Given the description of an element on the screen output the (x, y) to click on. 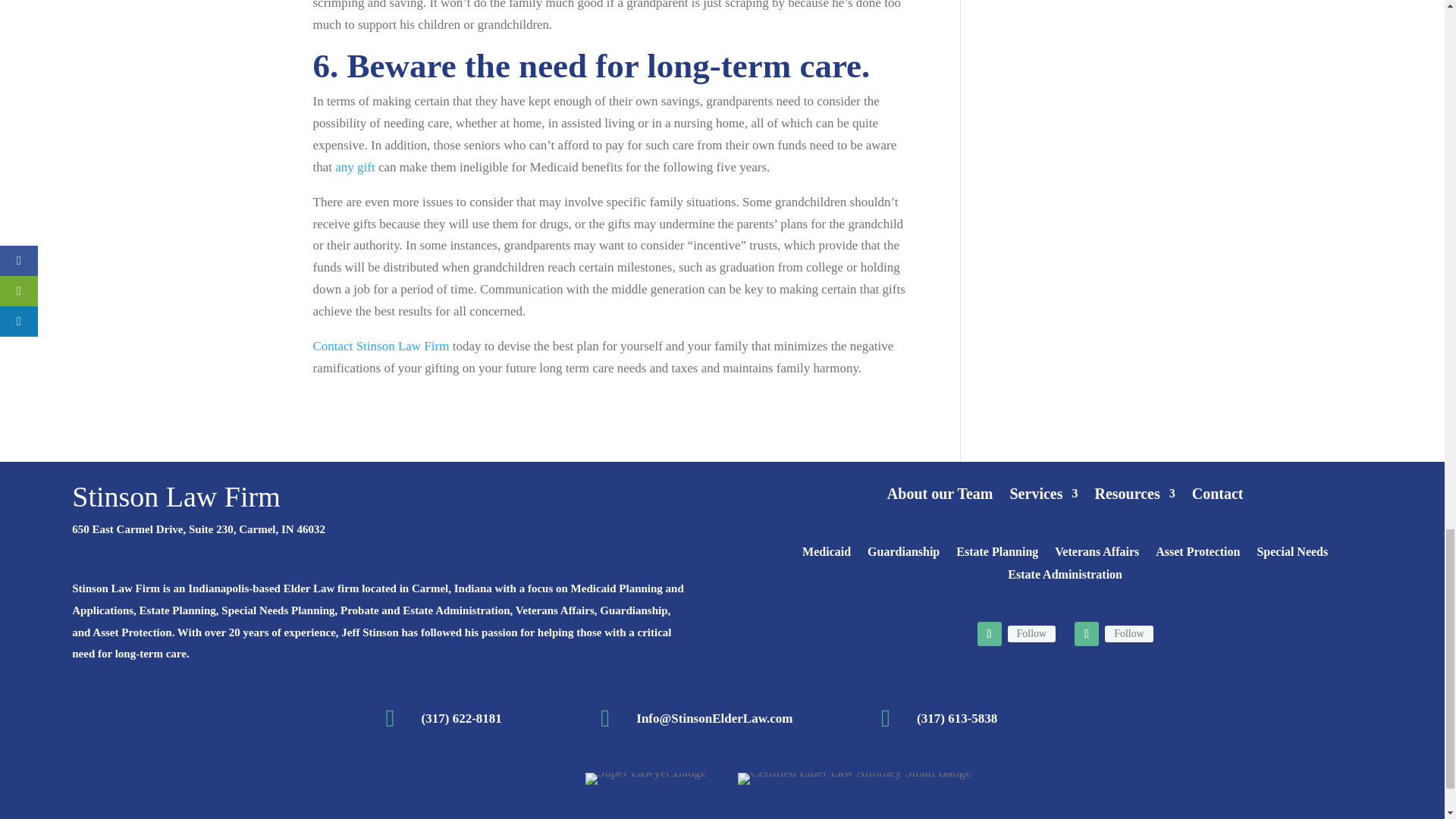
Facebook (1031, 633)
Contact (1217, 496)
Guardianship (903, 555)
Services (1044, 496)
Resources (1134, 496)
LinkedIn (1129, 633)
Follow on Facebook (988, 633)
Contact Stinson Law Firm (380, 345)
mybadge (645, 778)
About our Team (939, 496)
CELA badge sm (854, 778)
Follow on LinkedIn (1086, 633)
Medicaid (826, 555)
any gift (354, 166)
